Given the description of an element on the screen output the (x, y) to click on. 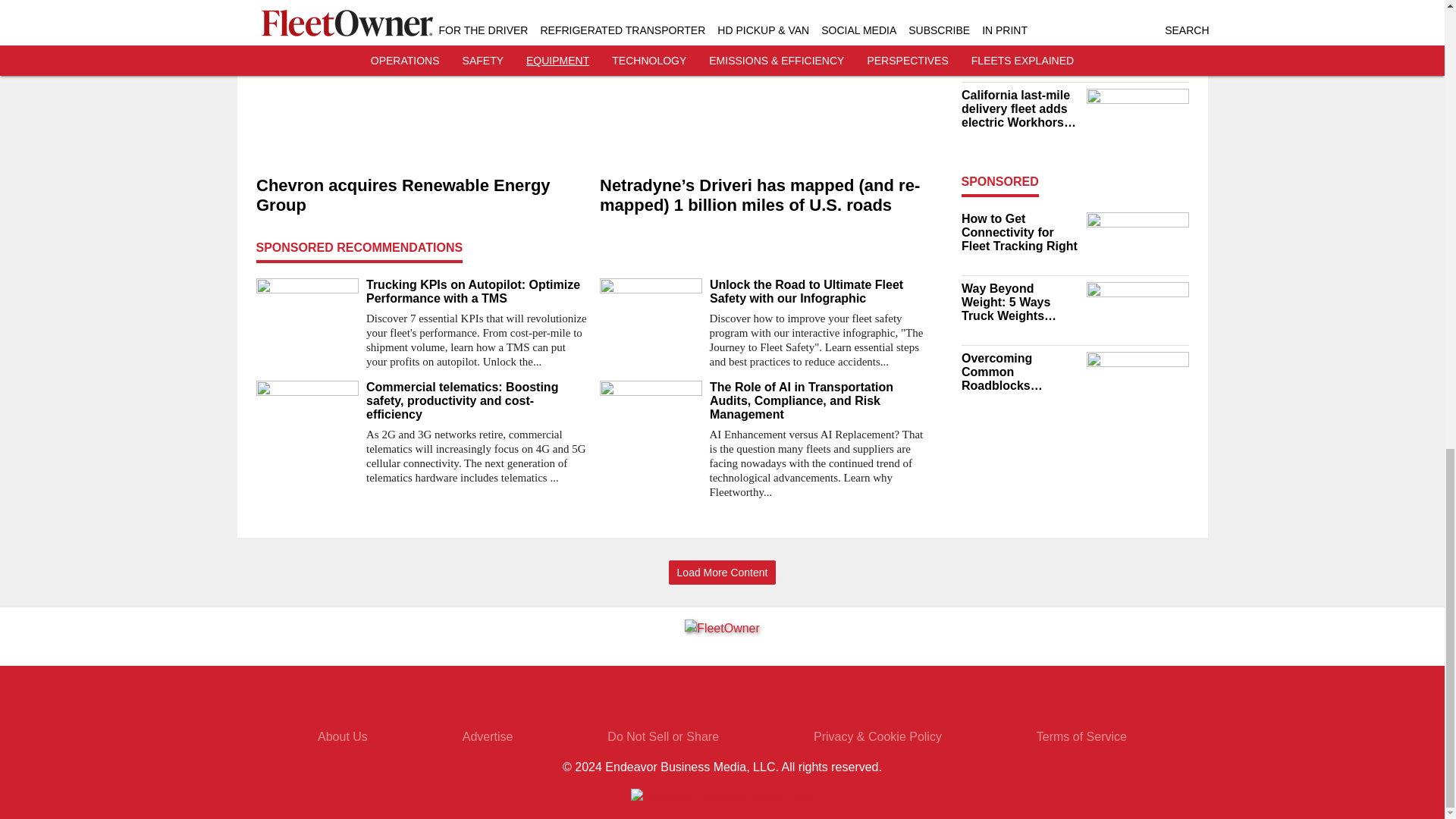
Chevron acquires Renewable Energy Group (422, 195)
Trucking KPIs on Autopilot: Optimize Performance with a TMS (476, 291)
